Given the description of an element on the screen output the (x, y) to click on. 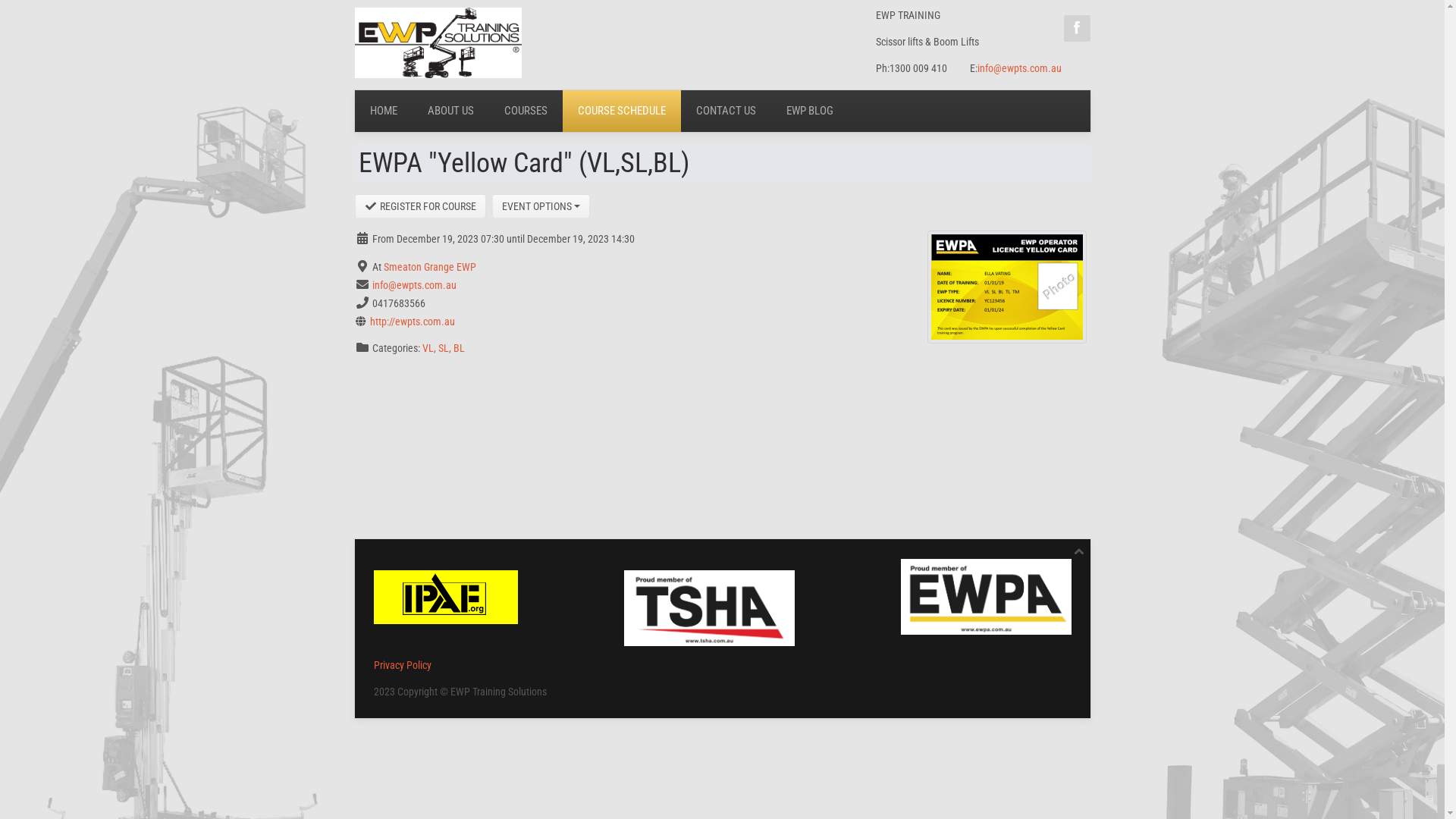
info@ewpts.com.au Element type: text (413, 285)
EWP BLOG Element type: text (808, 110)
REGISTER FOR COURSE Element type: text (420, 206)
HOME Element type: text (383, 110)
EVENT OPTIONS Element type: text (540, 206)
Privacy Policy  Element type: text (403, 664)
CONTACT US Element type: text (725, 110)
info@ewpts.com.au Element type: text (1018, 68)
VL, SL, BL Element type: text (442, 348)
COURSES Element type: text (524, 110)
ABOUT US Element type: text (450, 110)
COURSE SCHEDULE Element type: text (621, 110)
Smeaton Grange EWP Element type: text (429, 266)
http://ewpts.com.au Element type: text (412, 321)
